Given the description of an element on the screen output the (x, y) to click on. 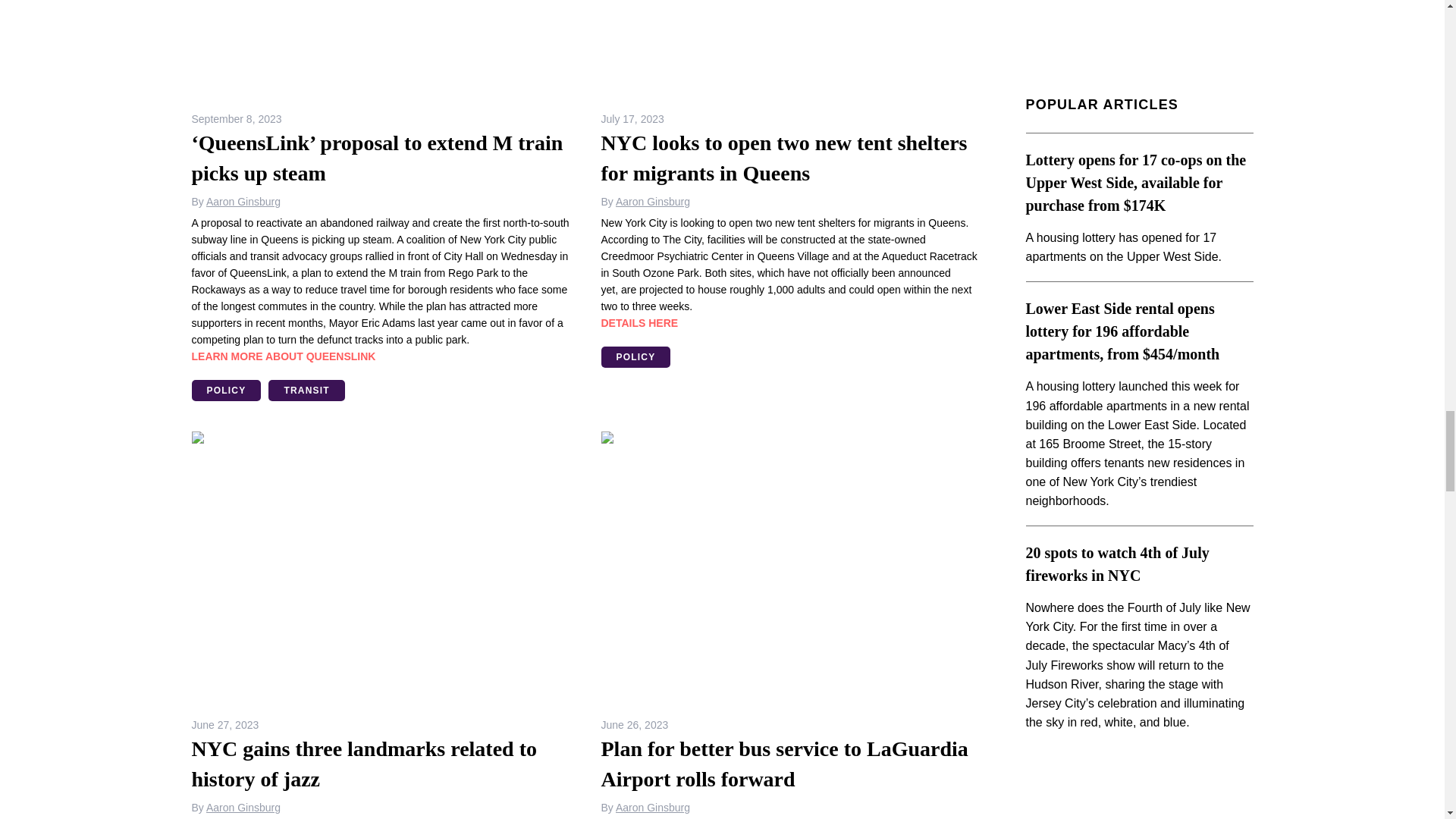
Posts by Aaron Ginsburg (652, 201)
Posts by Aaron Ginsburg (243, 201)
Posts by Aaron Ginsburg (652, 807)
Posts by Aaron Ginsburg (243, 807)
NYC gains three landmarks related to history of jazz (380, 567)
